Given the description of an element on the screen output the (x, y) to click on. 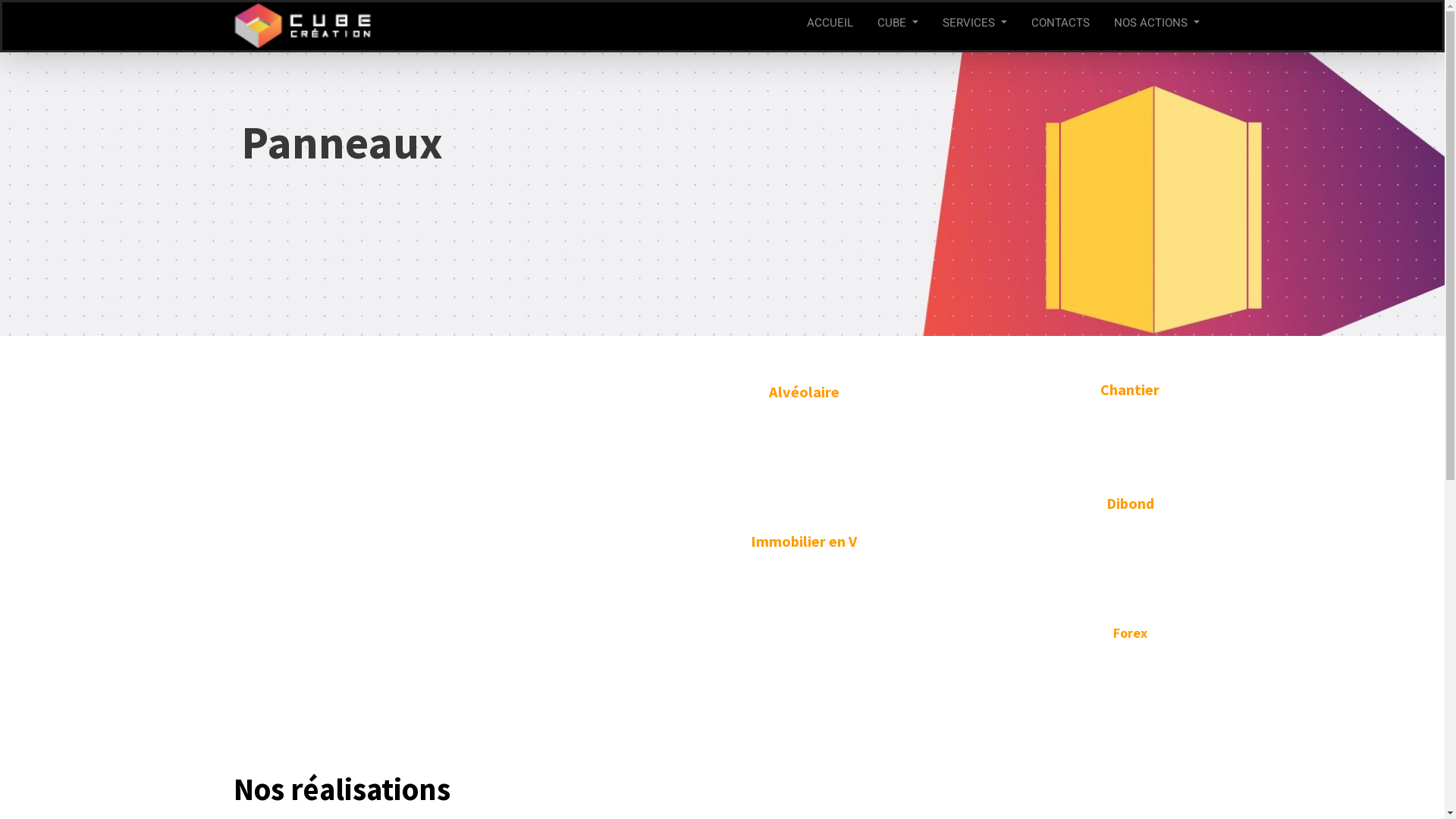
SERVICES Element type: text (974, 26)
ACCUEIL Element type: text (829, 26)
My Website Element type: hover (302, 25)
CONTACTS Element type: text (1060, 26)
NOS ACTIONS Element type: text (1156, 26)
CUBE Element type: text (897, 26)
